Given the description of an element on the screen output the (x, y) to click on. 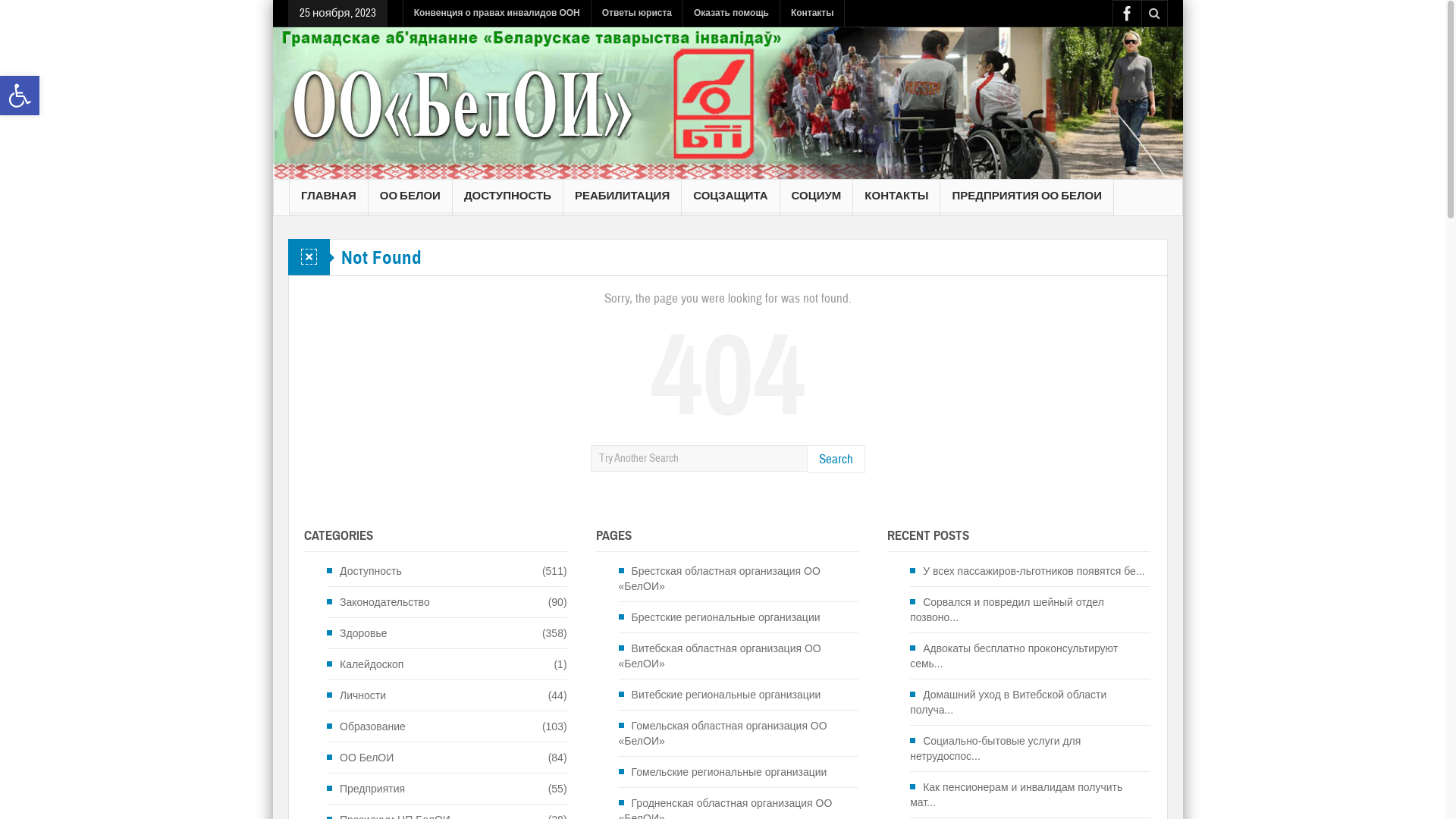
Search Element type: text (835, 459)
Search for: Element type: hover (698, 458)
